Given the description of an element on the screen output the (x, y) to click on. 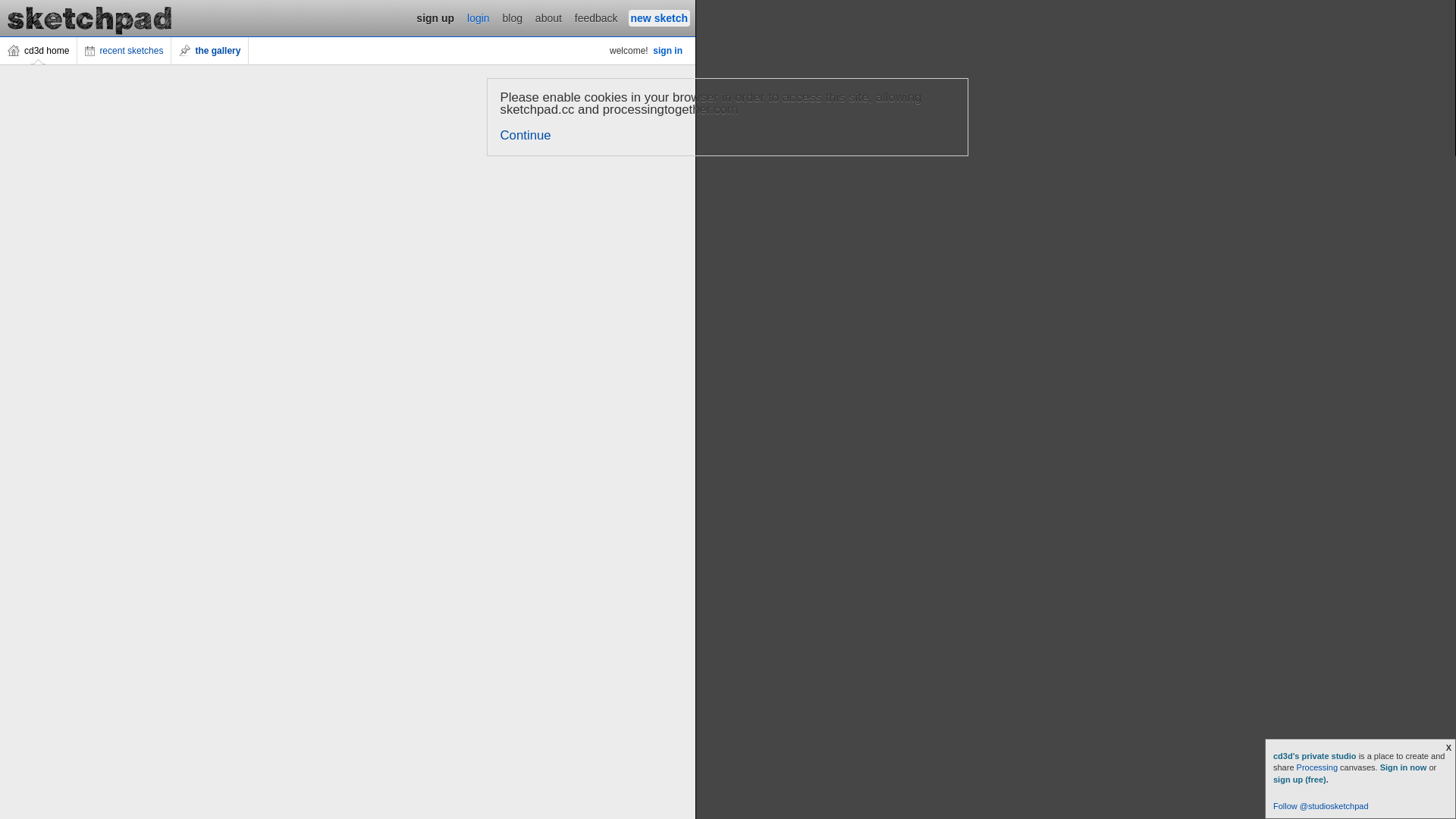
cd3d's private studio Element type: text (1315, 755)
new sketch Element type: text (659, 17)
feedback Element type: text (596, 17)
sign in Element type: text (667, 50)
login Element type: text (478, 17)
Follow @studiosketchpad Element type: text (1320, 805)
about Element type: text (548, 17)
sign up (free) Element type: text (1299, 779)
recent sketches Element type: text (124, 50)
Continue Element type: text (525, 135)
sign up Element type: text (435, 17)
cd3d home Element type: text (38, 50)
Sign in now Element type: text (1403, 766)
Processing Element type: text (1316, 766)
the gallery Element type: text (209, 50)
Studio Sketchpad is Processing on Etherpad Element type: hover (90, 18)
blog Element type: text (512, 17)
